Given the description of an element on the screen output the (x, y) to click on. 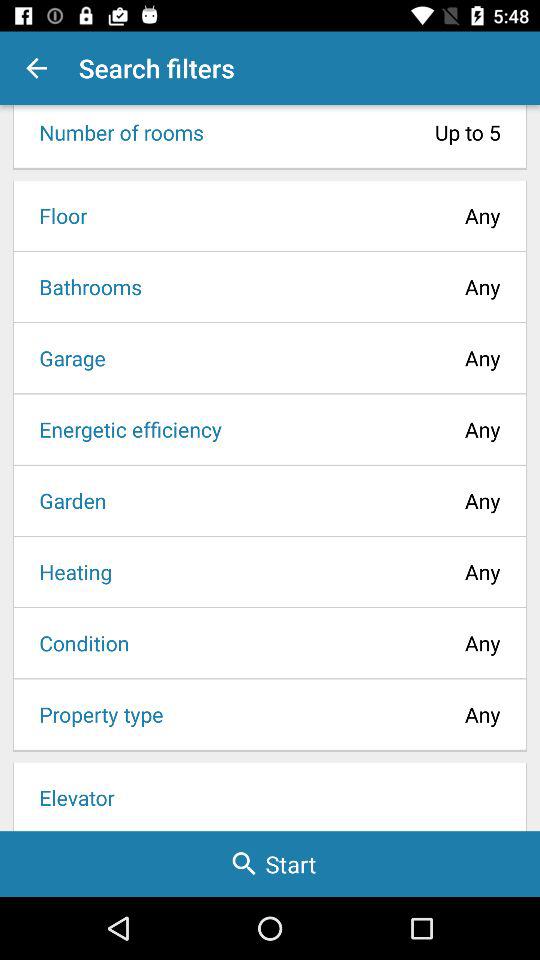
turn off garage (65, 357)
